Given the description of an element on the screen output the (x, y) to click on. 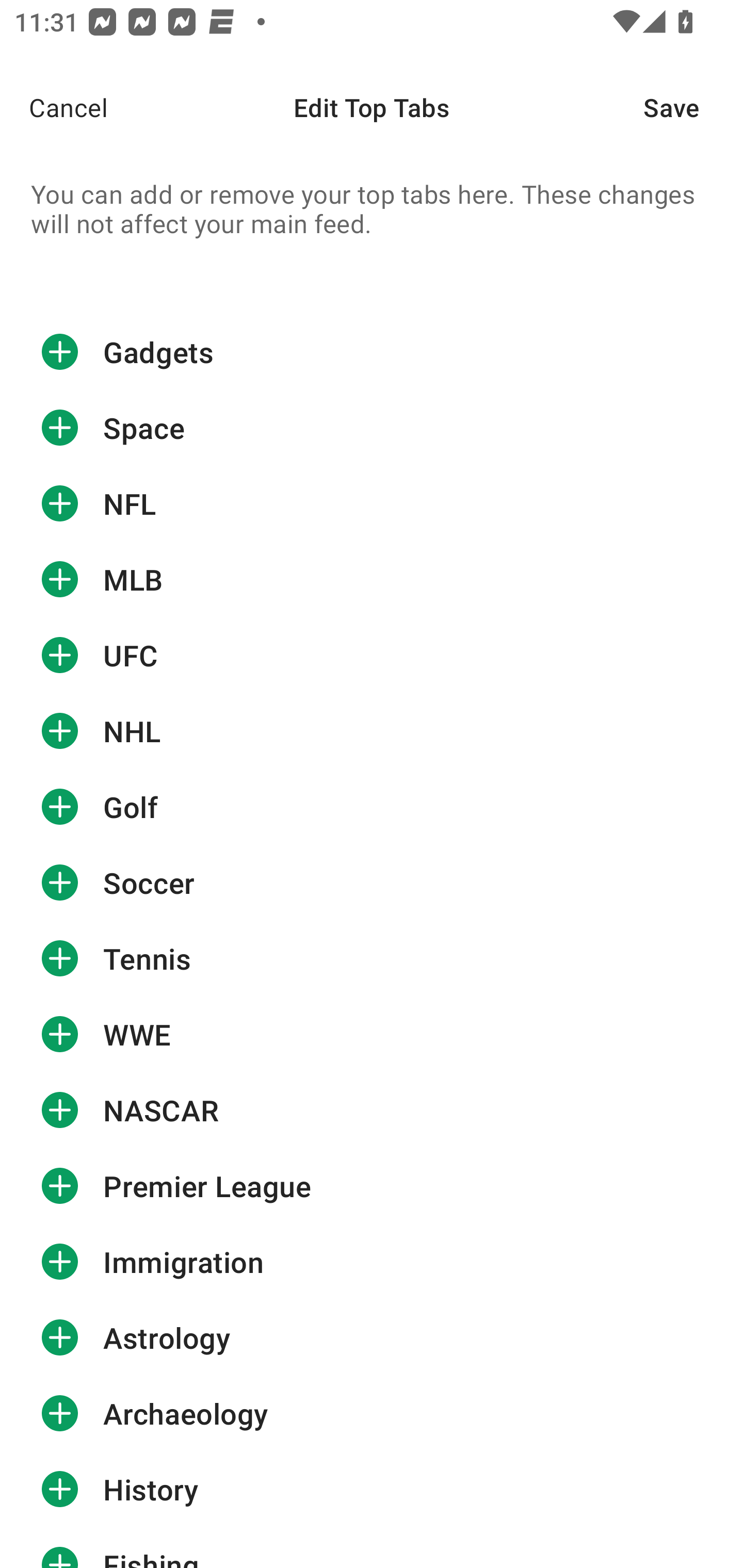
Cancel (53, 106)
Save (693, 106)
Gadgets (371, 351)
Space (371, 427)
NFL (371, 502)
MLB (371, 578)
UFC (371, 655)
NHL (371, 730)
Golf (371, 806)
Soccer (371, 882)
Tennis (371, 958)
WWE (371, 1034)
NASCAR (371, 1109)
Premier League (371, 1185)
Immigration (371, 1261)
Astrology (371, 1337)
Archaeology (371, 1413)
History (371, 1489)
